Given the description of an element on the screen output the (x, y) to click on. 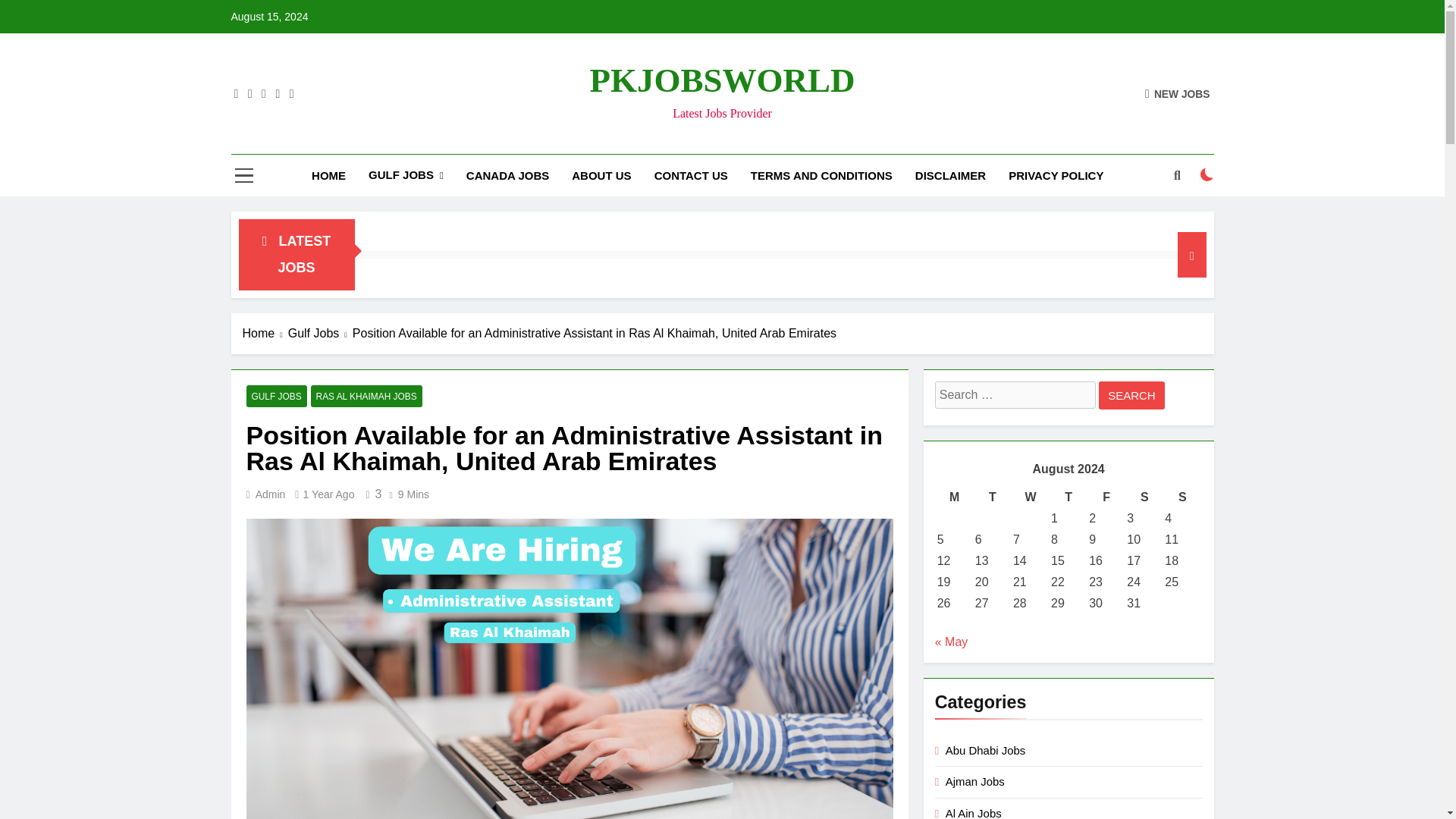
Monday (954, 496)
PRIVACY POLICY (1056, 174)
TERMS AND CONDITIONS (821, 174)
RAS AL KHAIMAH JOBS (366, 395)
Admin (270, 494)
Gulf Jobs (320, 333)
CONTACT US (691, 174)
Friday (1105, 496)
Search (1131, 395)
DISCLAIMER (950, 174)
